Given the description of an element on the screen output the (x, y) to click on. 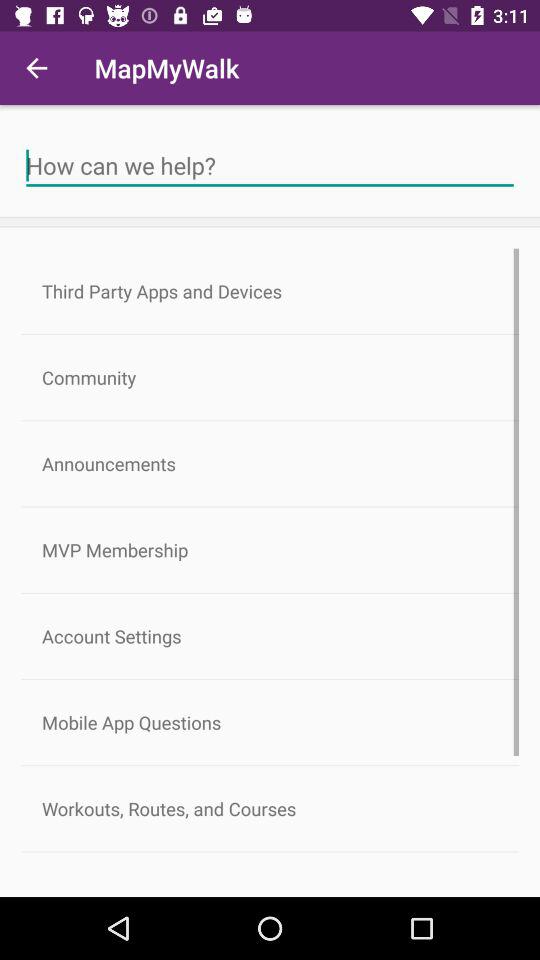
tap the community (269, 377)
